Given the description of an element on the screen output the (x, y) to click on. 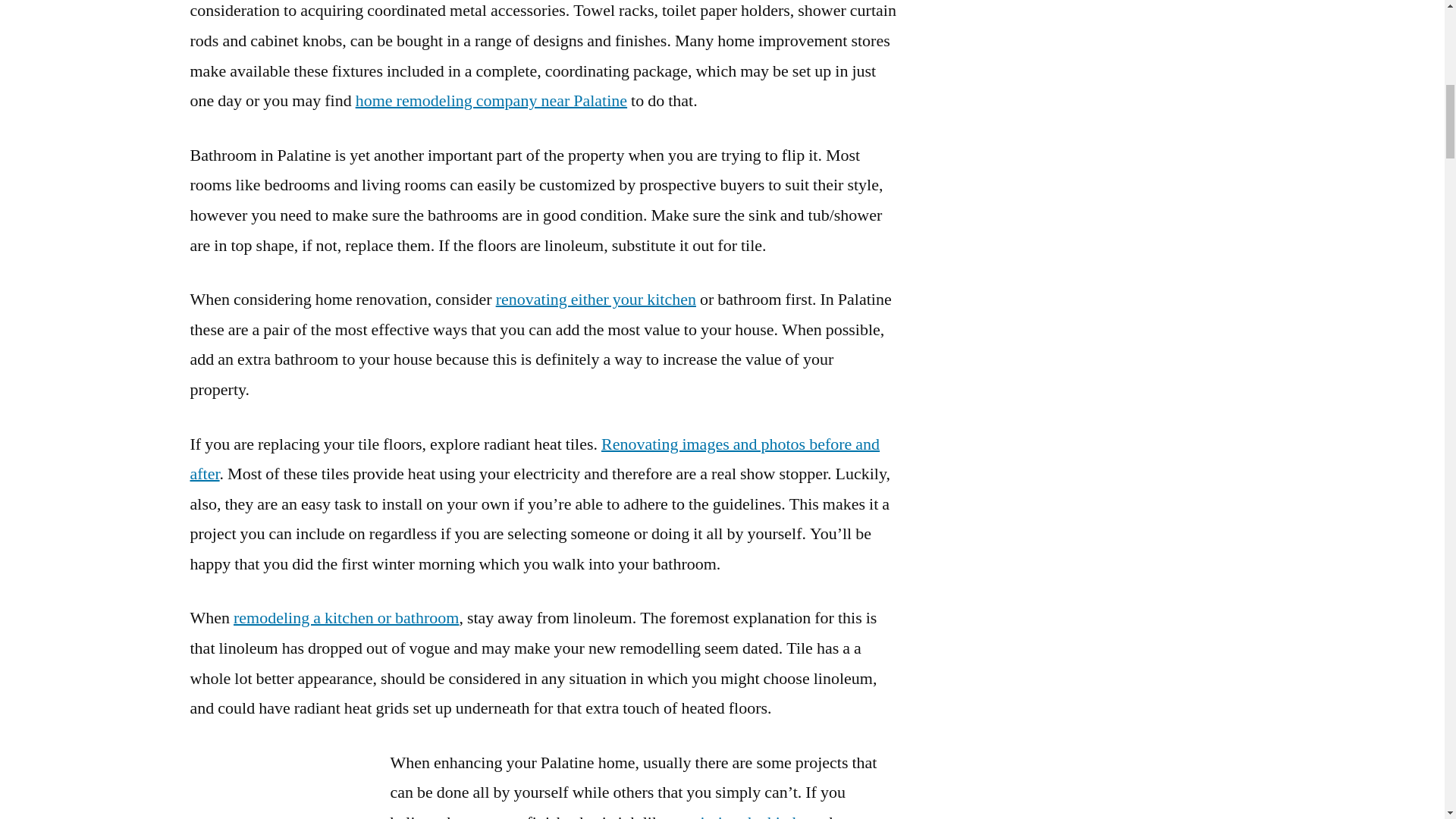
renovating either your kitchen (595, 299)
home remodeling company near Palatine (491, 100)
repainting the kitchen (743, 815)
Renovating images and photos before and after (534, 459)
remodeling a kitchen or bathroom (345, 617)
